Given the description of an element on the screen output the (x, y) to click on. 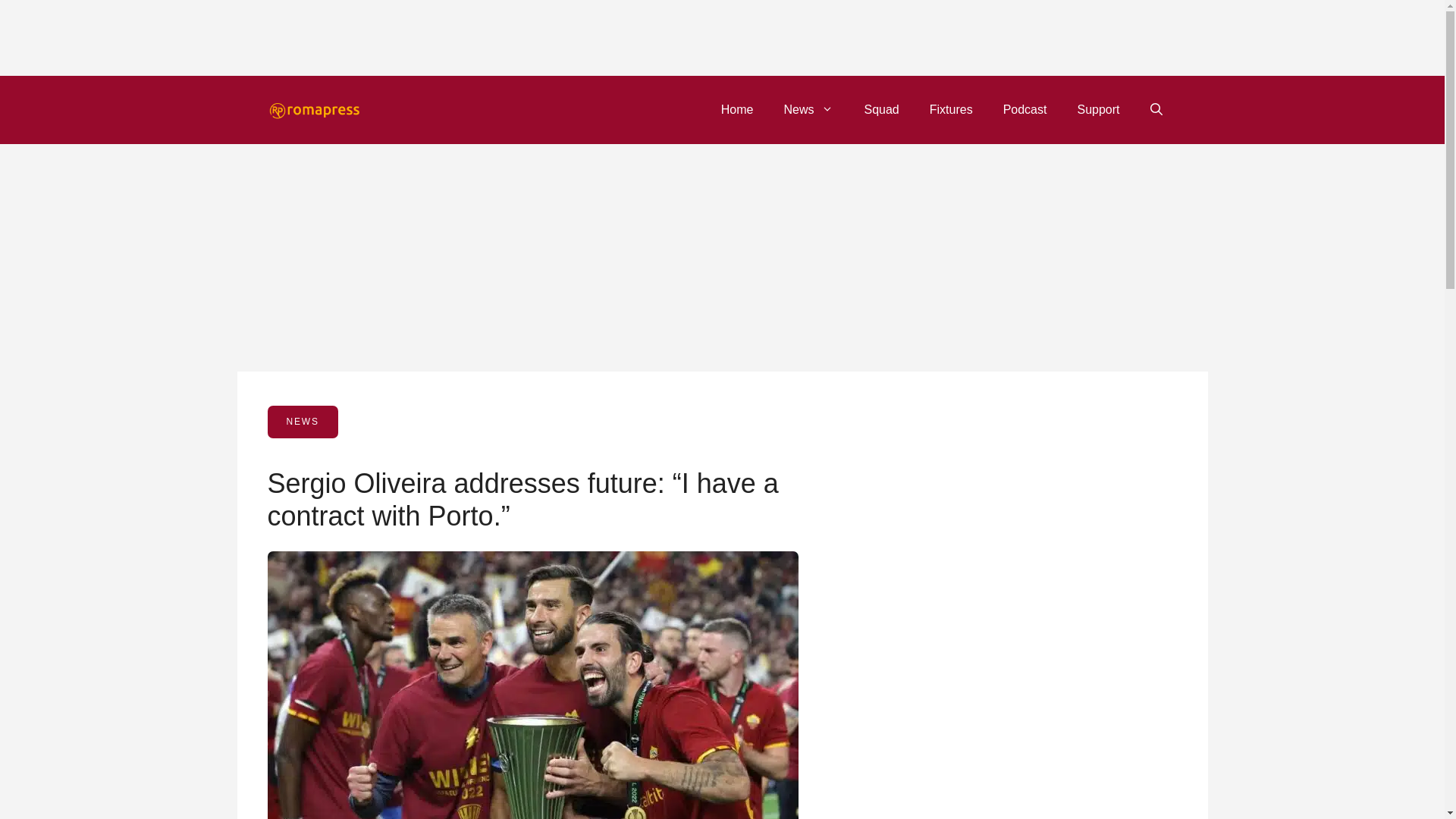
Support (1097, 109)
Podcast (1025, 109)
Home (737, 109)
Squad (881, 109)
News (808, 109)
Fixtures (951, 109)
